Given the description of an element on the screen output the (x, y) to click on. 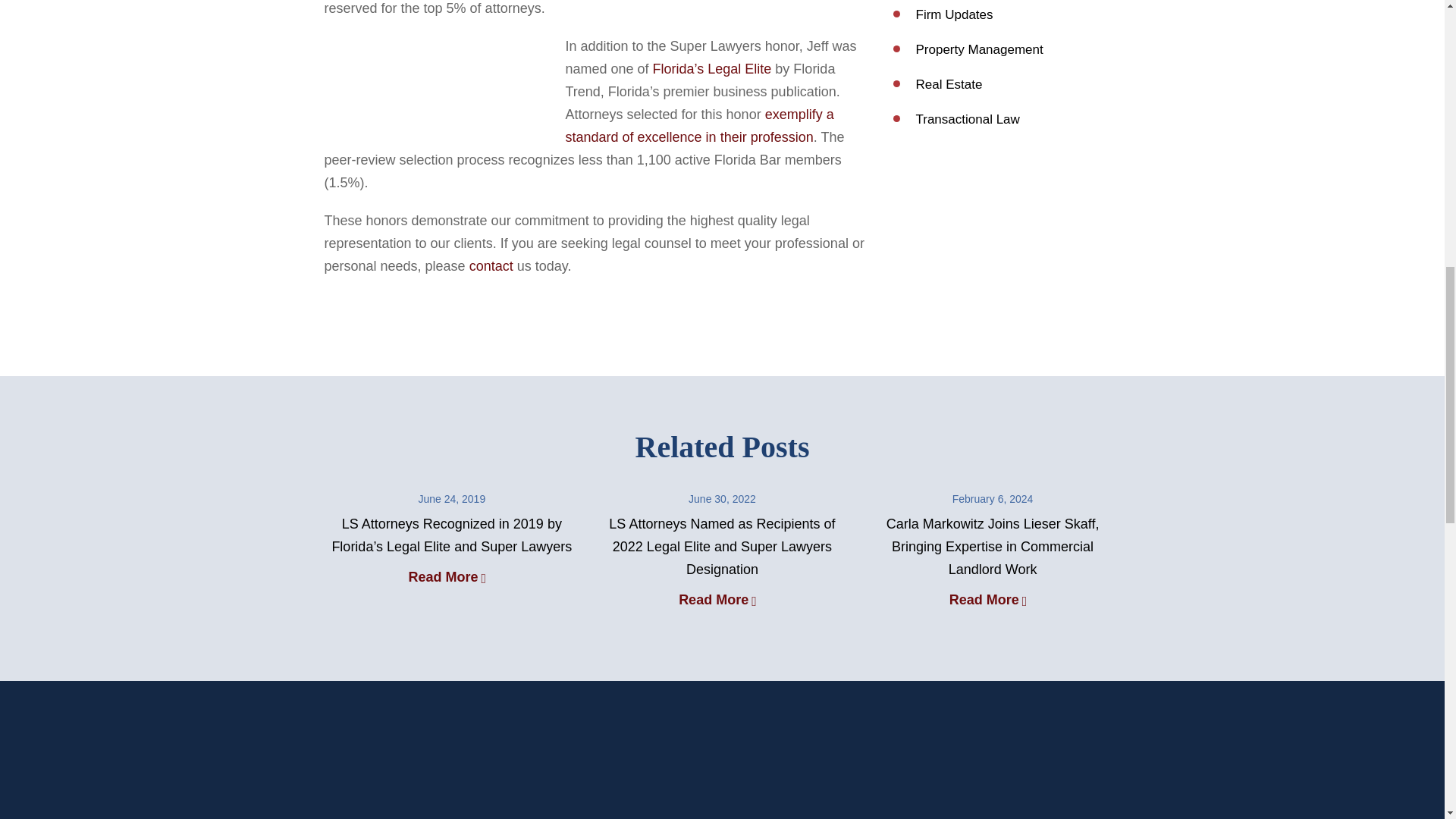
Firm Updates (953, 14)
Contact (490, 265)
exemplify a standard of excellence in their profession (700, 125)
Read More (451, 576)
contact (490, 265)
Transactional Law (967, 119)
Property Management (979, 49)
Real Estate (948, 83)
